Given the description of an element on the screen output the (x, y) to click on. 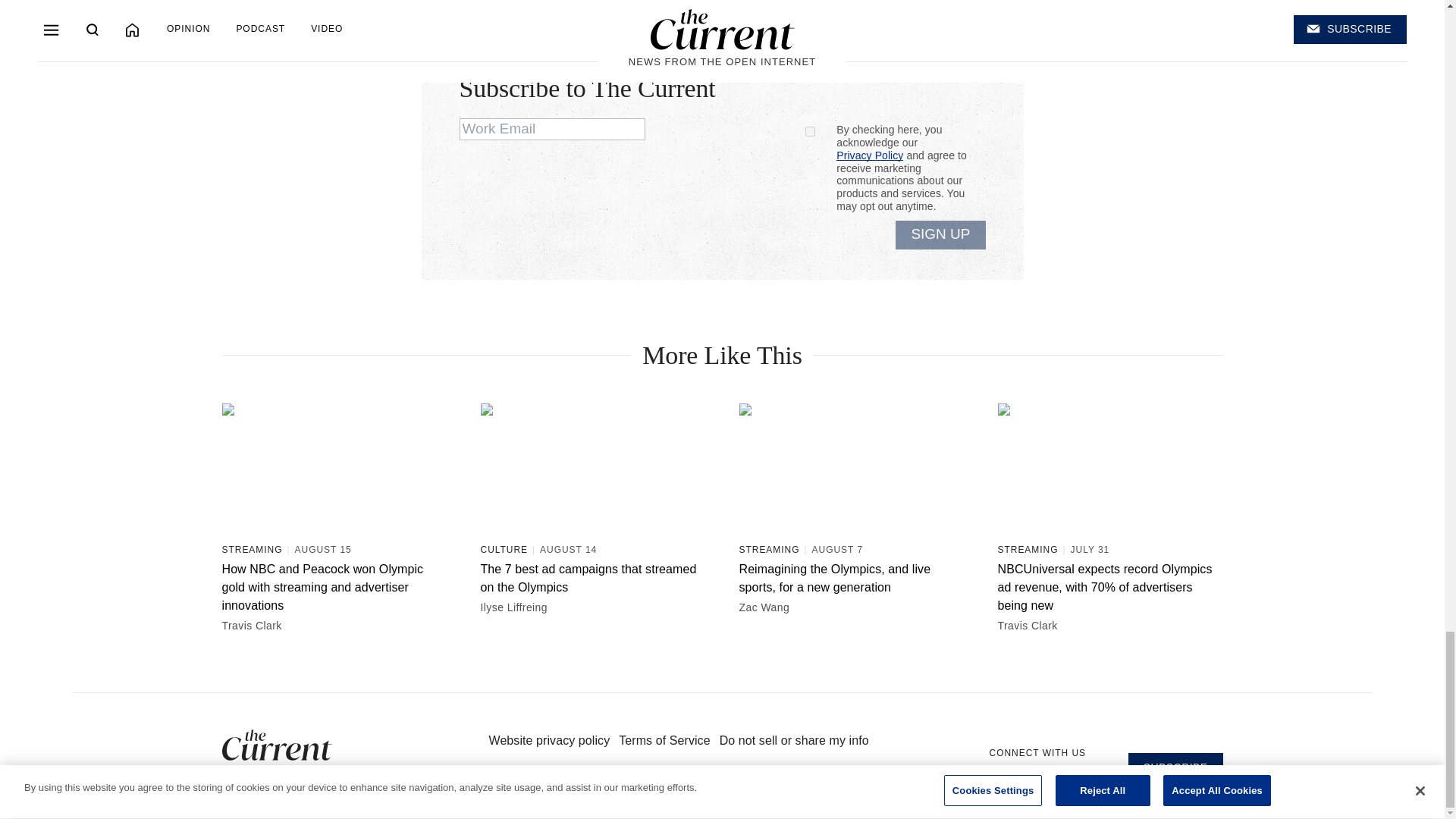
Ilyse Liffreing (590, 607)
Travis Clark (331, 625)
Zac Wang (848, 607)
STREAMING (251, 549)
STREAMING (768, 549)
SIGN UP (940, 234)
The 7 best ad campaigns that streamed on the Olympics (590, 578)
yes (810, 131)
